Given the description of an element on the screen output the (x, y) to click on. 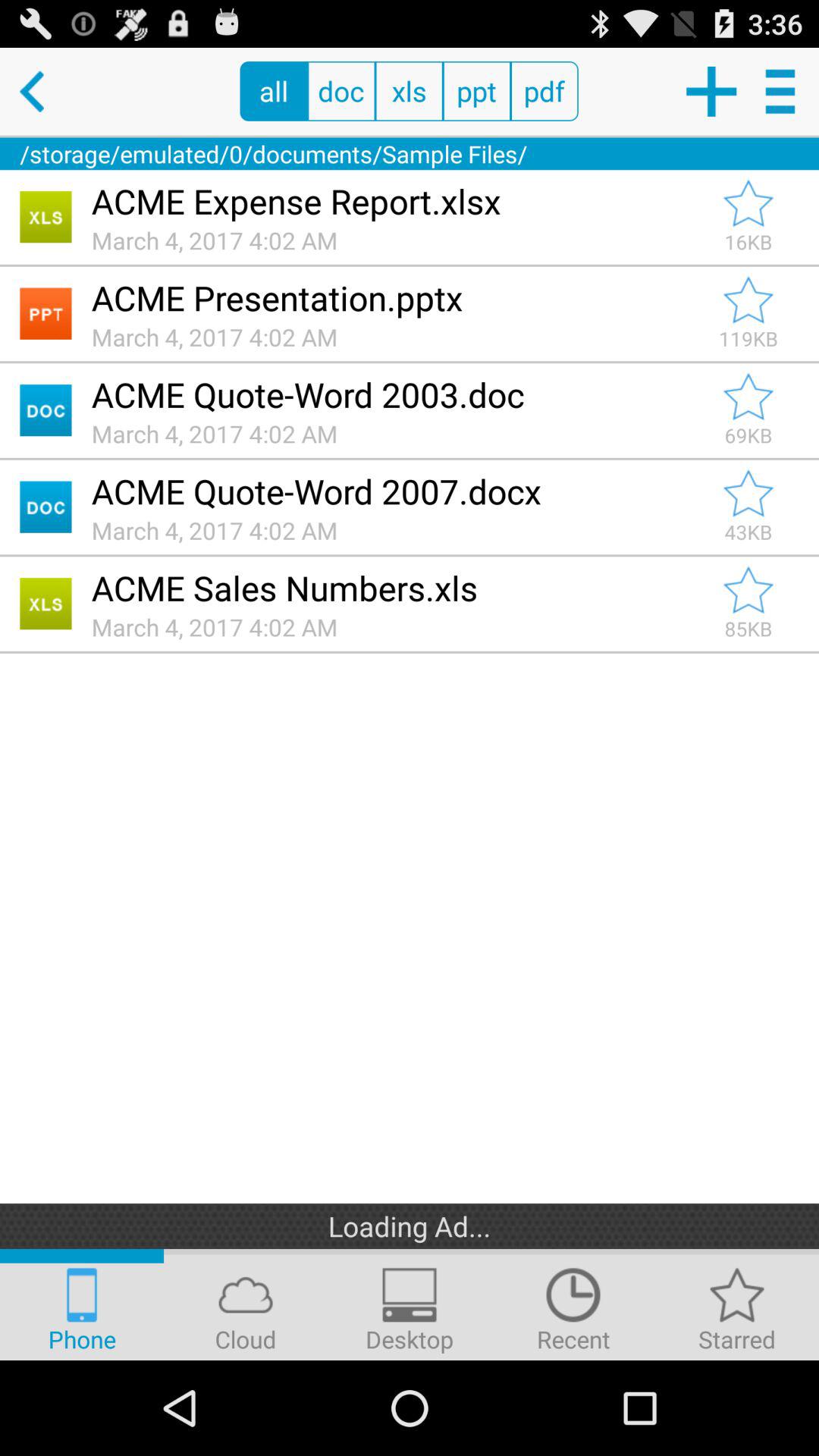
mark as important (748, 300)
